Given the description of an element on the screen output the (x, y) to click on. 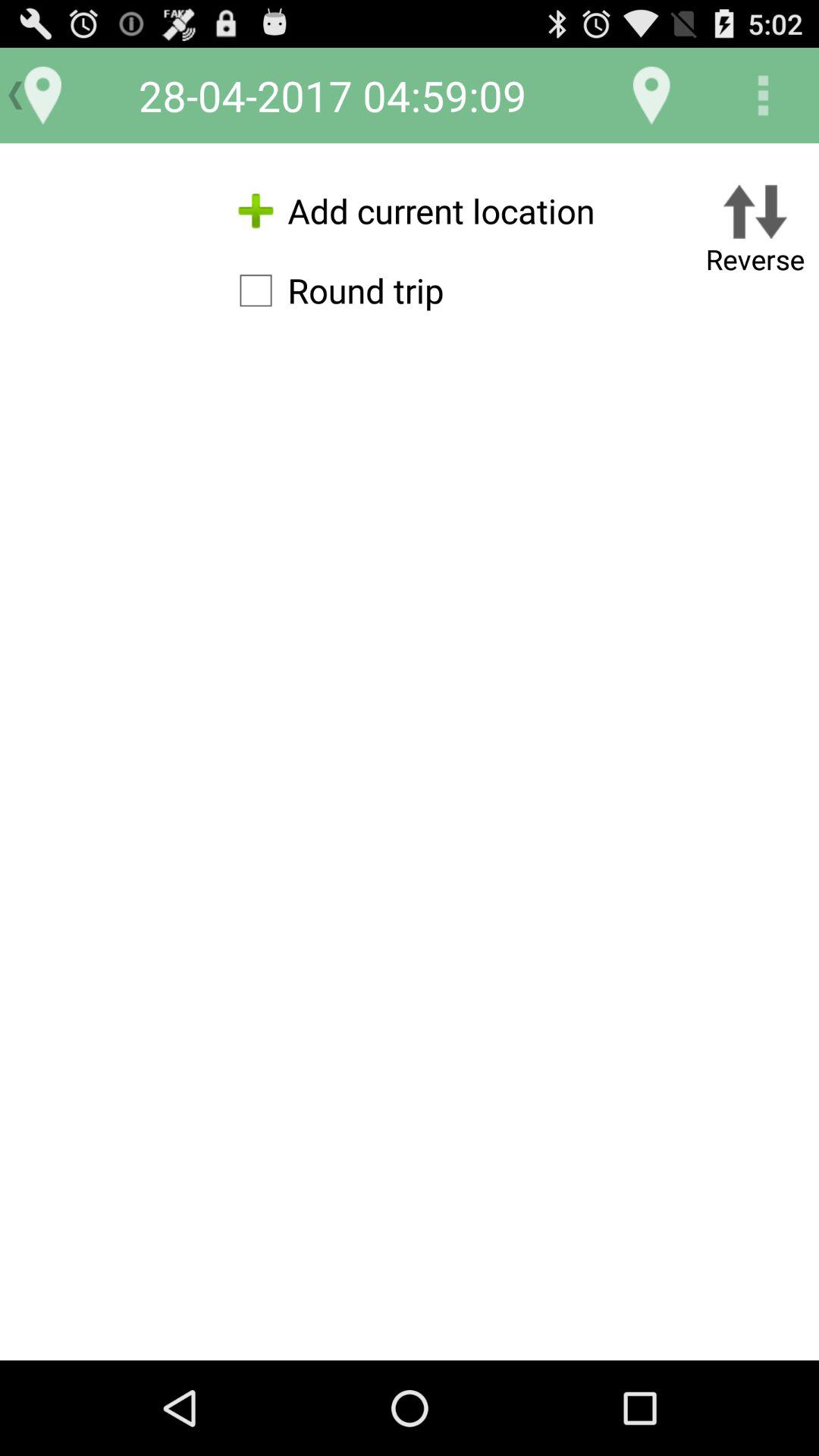
choose button next to add current location (755, 232)
